Given the description of an element on the screen output the (x, y) to click on. 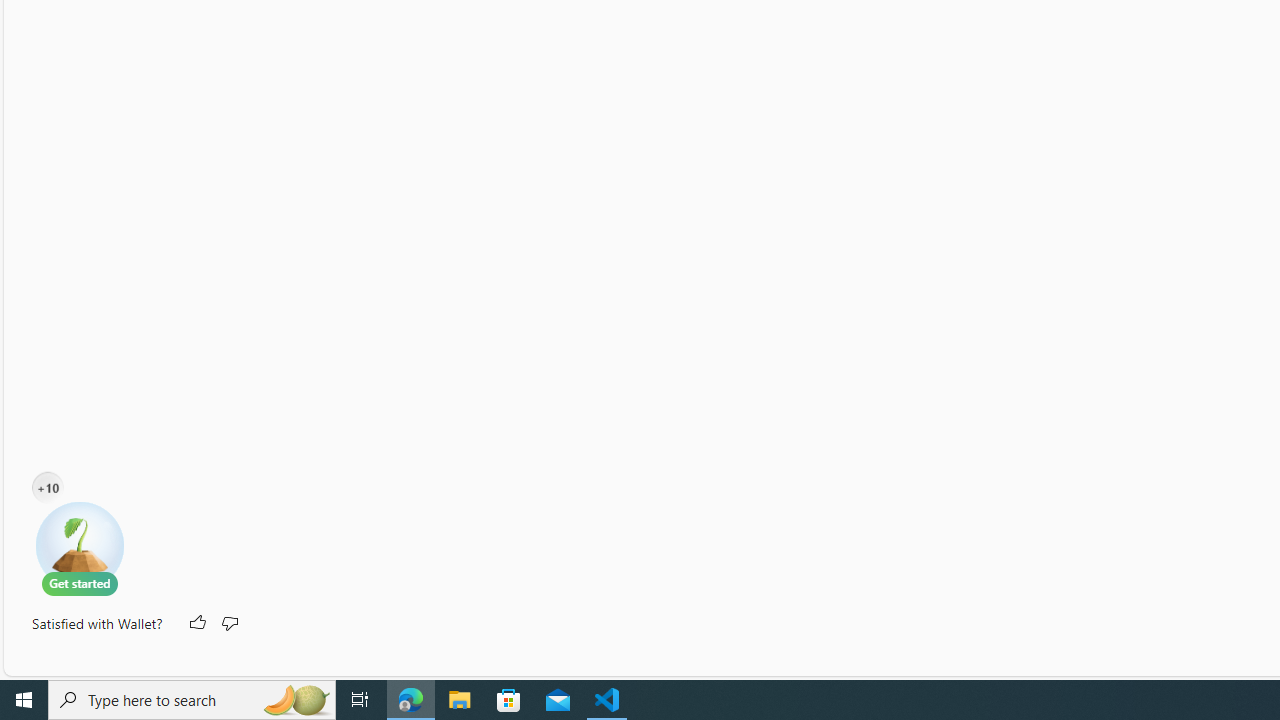
E-tree (80, 547)
10 water drops in your E-tree (48, 491)
Like (196, 623)
